Given the description of an element on the screen output the (x, y) to click on. 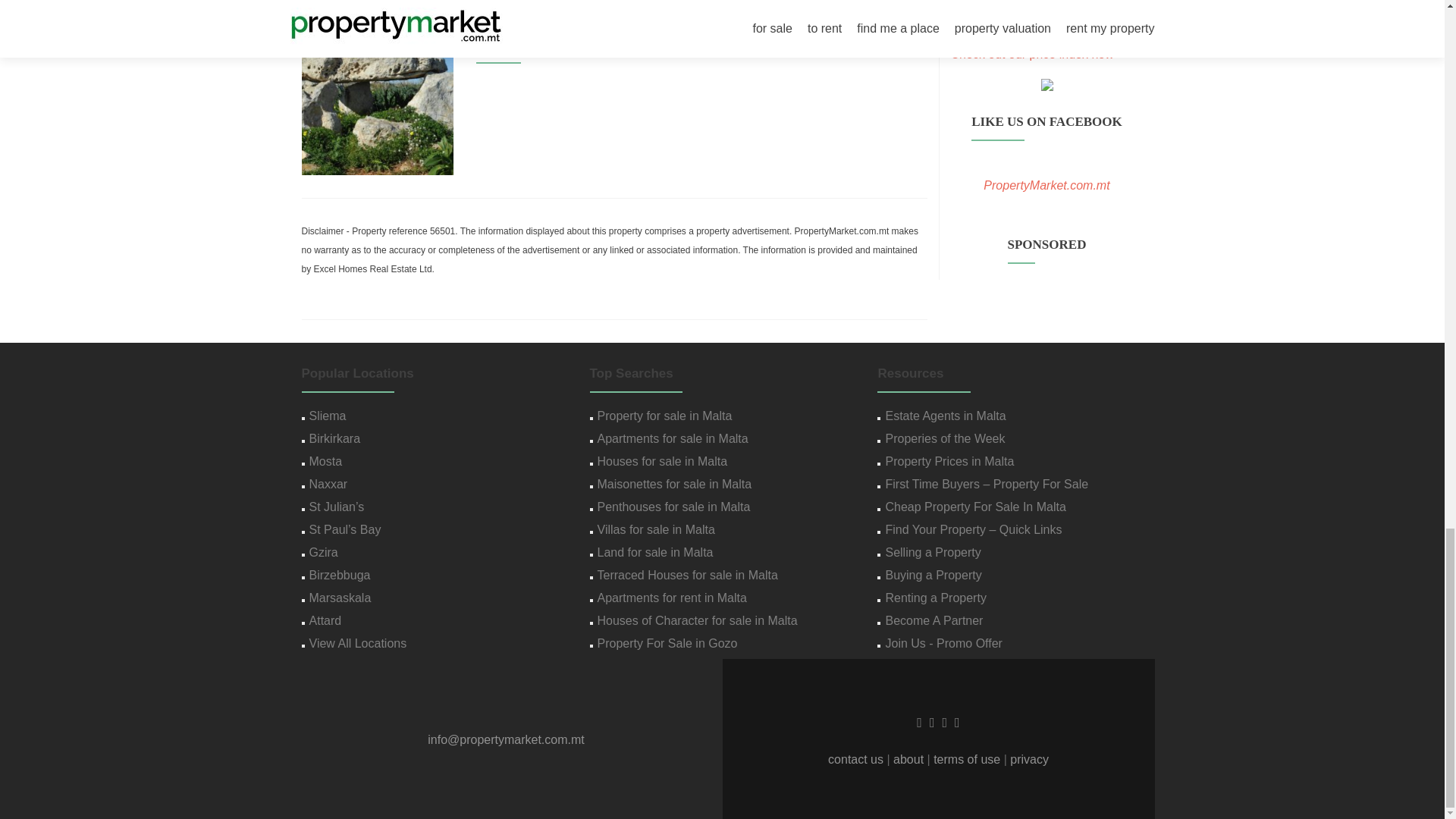
PropertyMarket.com.mt (1046, 185)
Sliema (327, 415)
View Malta's Property Price Index (1046, 75)
View Malta's Property Price Index (1031, 53)
Birkirkara (334, 438)
Mosta (325, 461)
Naxxar (327, 483)
Check out our price index now (1031, 53)
